Given the description of an element on the screen output the (x, y) to click on. 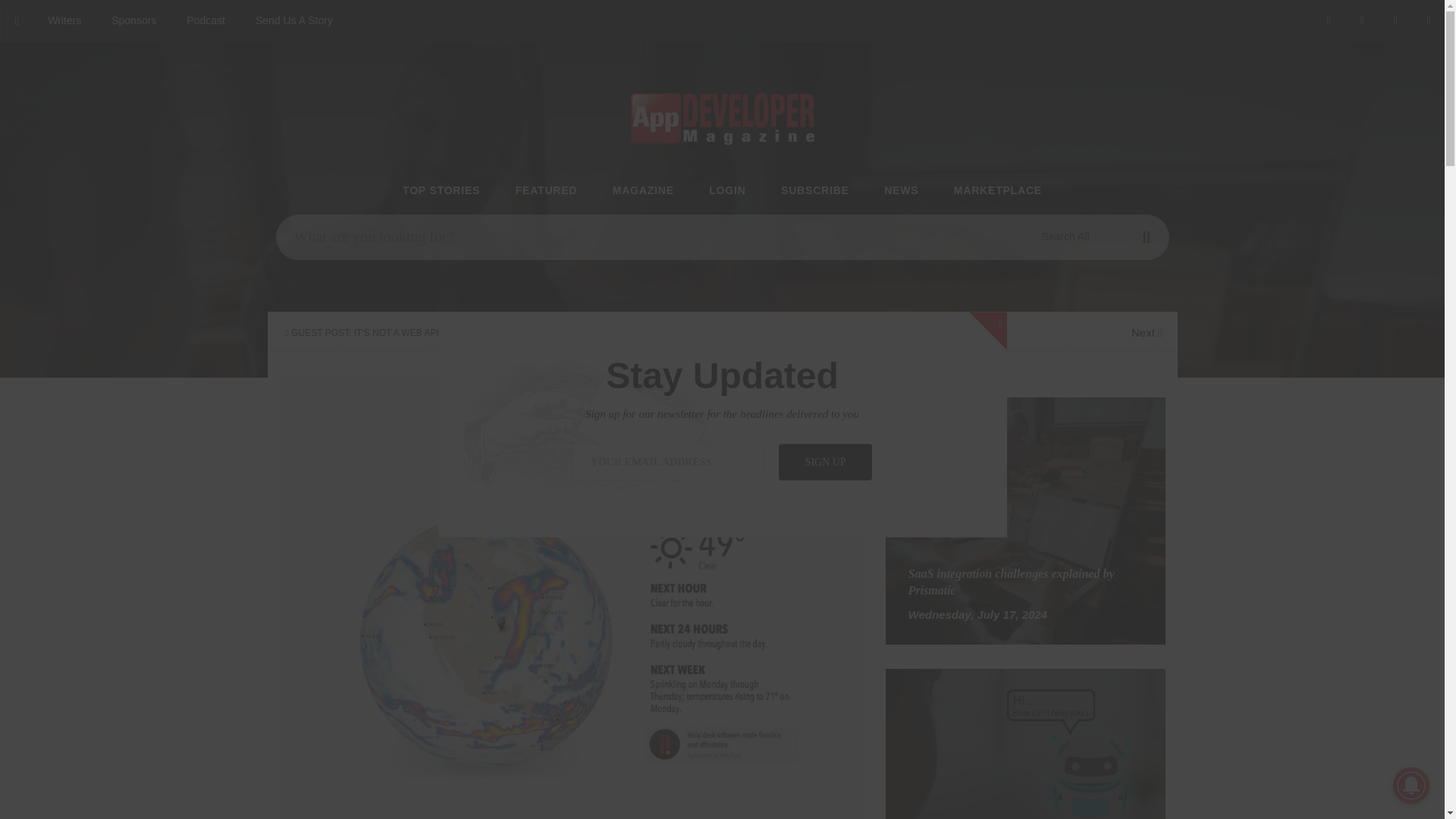
sign up (825, 461)
Writers (64, 20)
Back to the future (16, 20)
TOP STORIES (441, 190)
Our Facebook (1326, 20)
App Developer Magazine (205, 20)
FEATURED (546, 190)
Send Us A Story (293, 20)
Sponsors (133, 20)
Our Instagram (1393, 20)
Our Writers (64, 20)
NEWS (900, 190)
SUBSCRIBE (814, 190)
Podcast (205, 20)
